Given the description of an element on the screen output the (x, y) to click on. 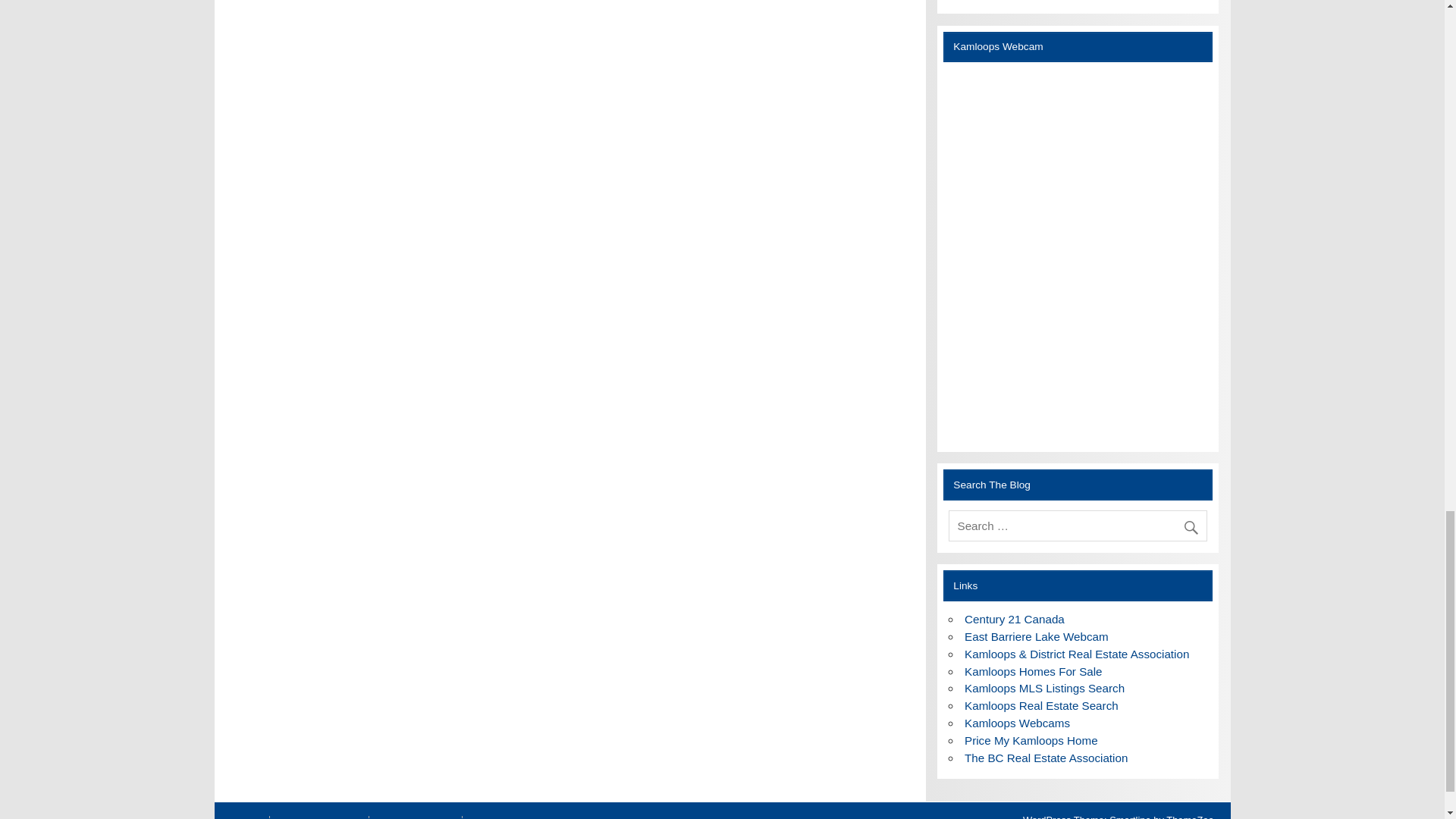
Kamloops Home Search (1040, 705)
Kamloops Homes For Sale (1032, 671)
The British Columbia Real Estate Association (1044, 757)
Kamloops MLS Listings Search (1043, 687)
Realty Executives International (1013, 618)
Webcams from all around Kamloops (1016, 722)
Free Kamloops Online Home Market Evaluation (1030, 739)
